Given the description of an element on the screen output the (x, y) to click on. 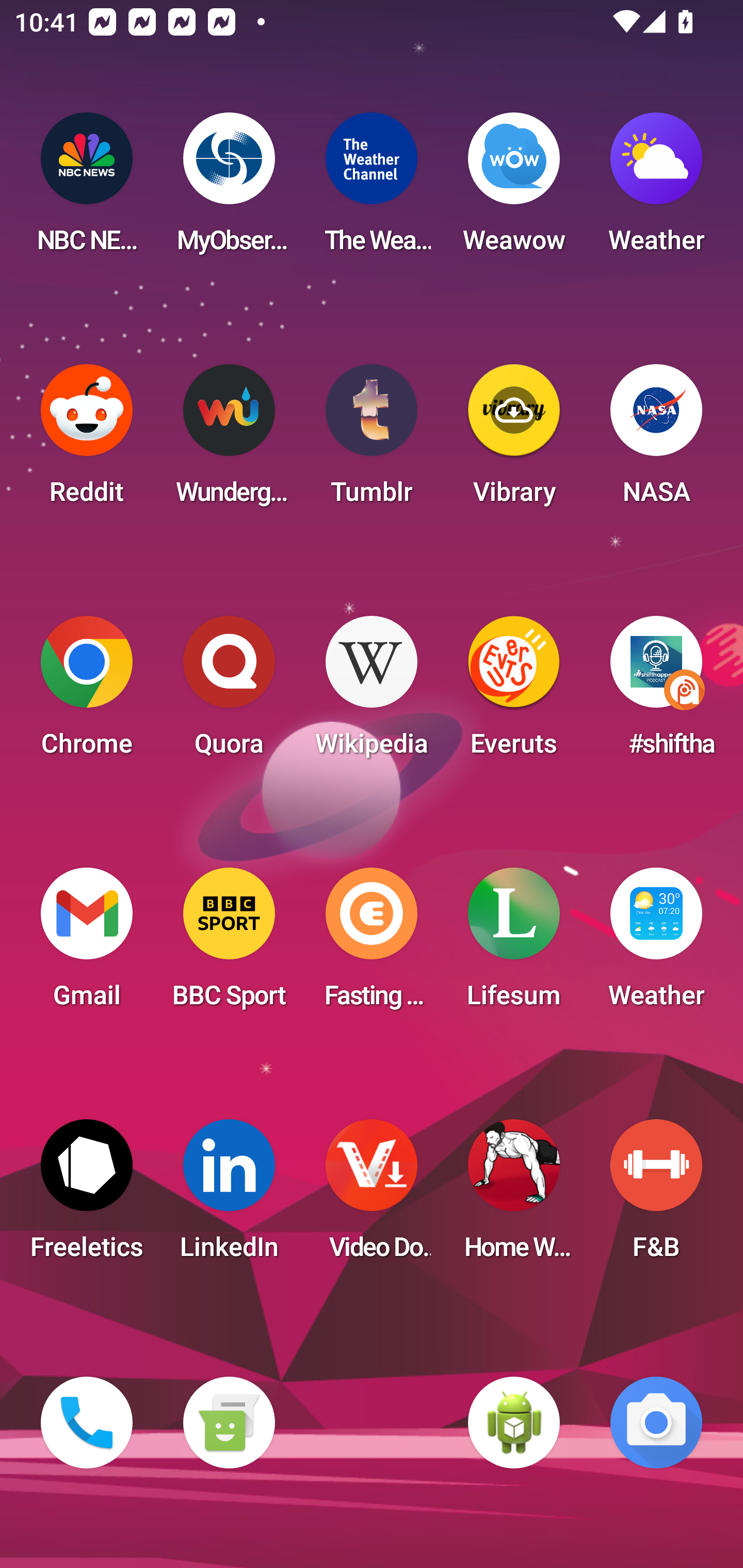
NBC NEWS (86, 188)
MyObservatory (228, 188)
The Weather Channel (371, 188)
Weawow (513, 188)
Weather (656, 188)
Reddit (86, 440)
Wunderground (228, 440)
Tumblr (371, 440)
Vibrary (513, 440)
NASA (656, 440)
Chrome (86, 692)
Quora (228, 692)
Wikipedia (371, 692)
Everuts (513, 692)
#shifthappens in the Digital Workplace Podcast (656, 692)
Gmail (86, 943)
BBC Sport (228, 943)
Fasting Coach (371, 943)
Lifesum (513, 943)
Weather (656, 943)
Freeletics (86, 1195)
LinkedIn (228, 1195)
Video Downloader & Ace Player (371, 1195)
Home Workout (513, 1195)
F&B (656, 1195)
Phone (86, 1422)
Messaging (228, 1422)
WebView Browser Tester (513, 1422)
Camera (656, 1422)
